Given the description of an element on the screen output the (x, y) to click on. 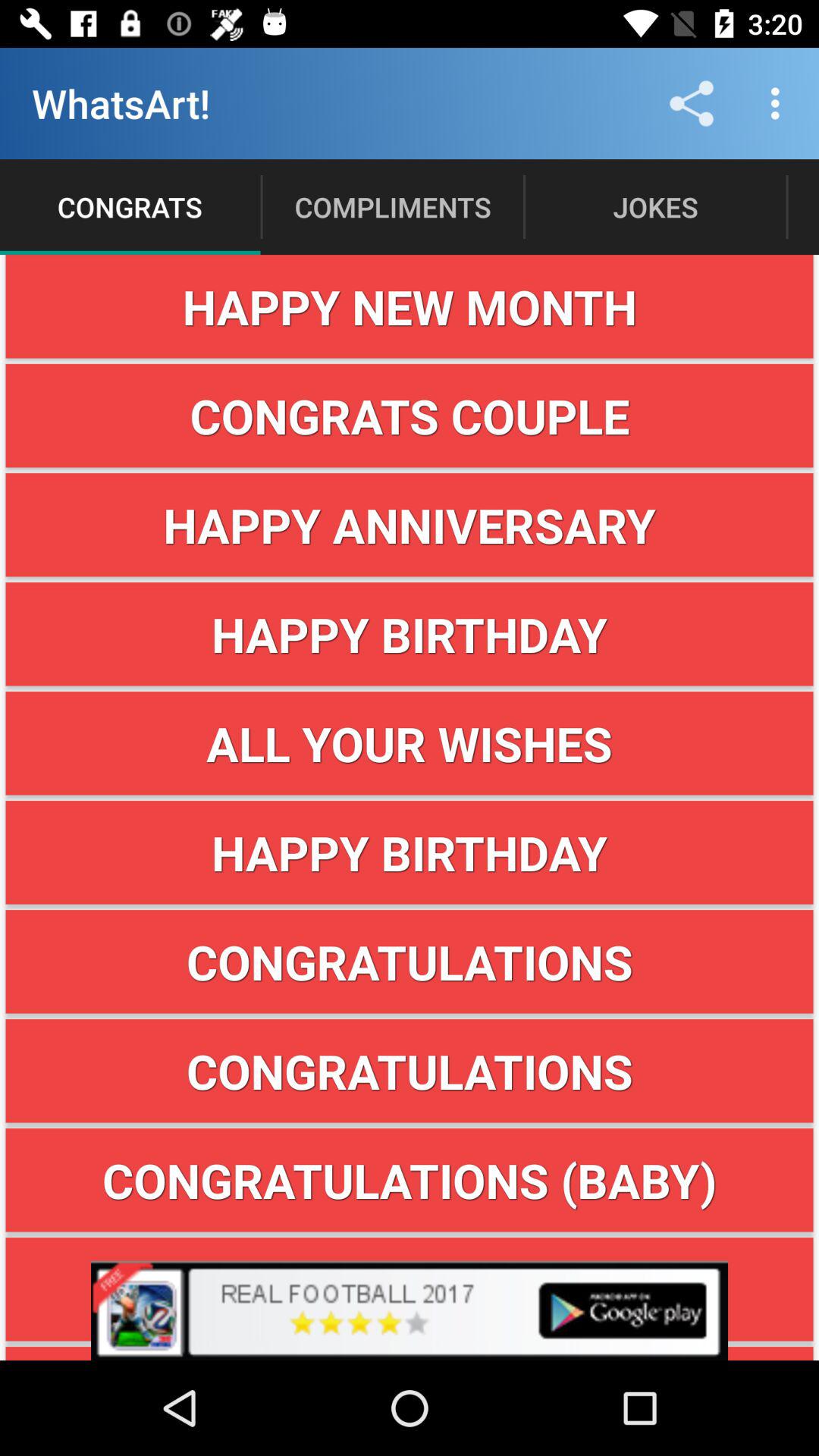
launch all your wishes button (409, 743)
